Given the description of an element on the screen output the (x, y) to click on. 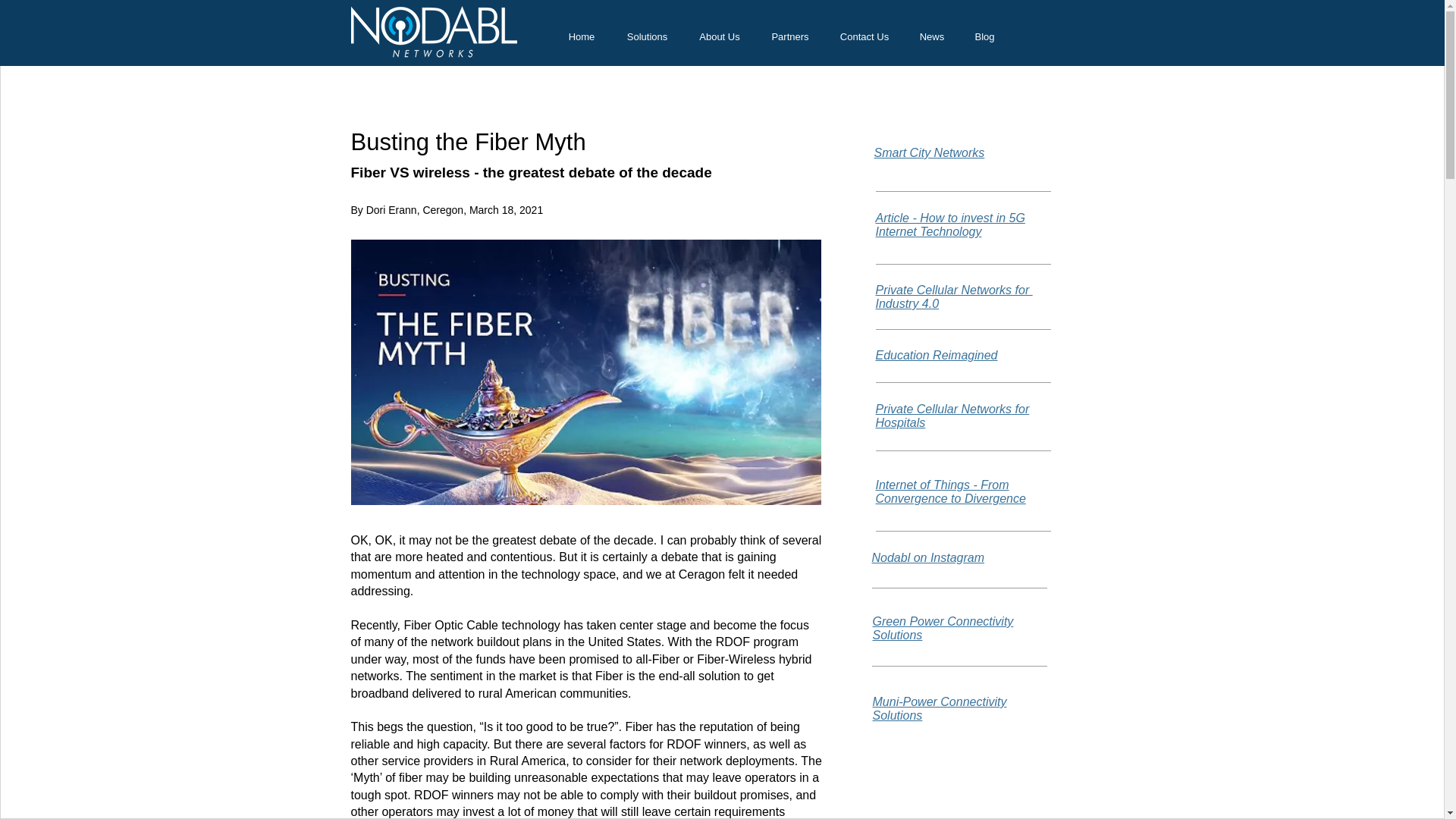
Education Reimagined (936, 354)
Article - How to invest in 5G Internet Technology (950, 224)
Blog (984, 36)
Green Power Connectivity Solutions (942, 628)
Contact Us (864, 36)
About Us (719, 36)
Partners (789, 36)
Smart City Networks (928, 152)
Internet of Things - From Convergence to Divergence (950, 491)
Solutions (647, 36)
